Given the description of an element on the screen output the (x, y) to click on. 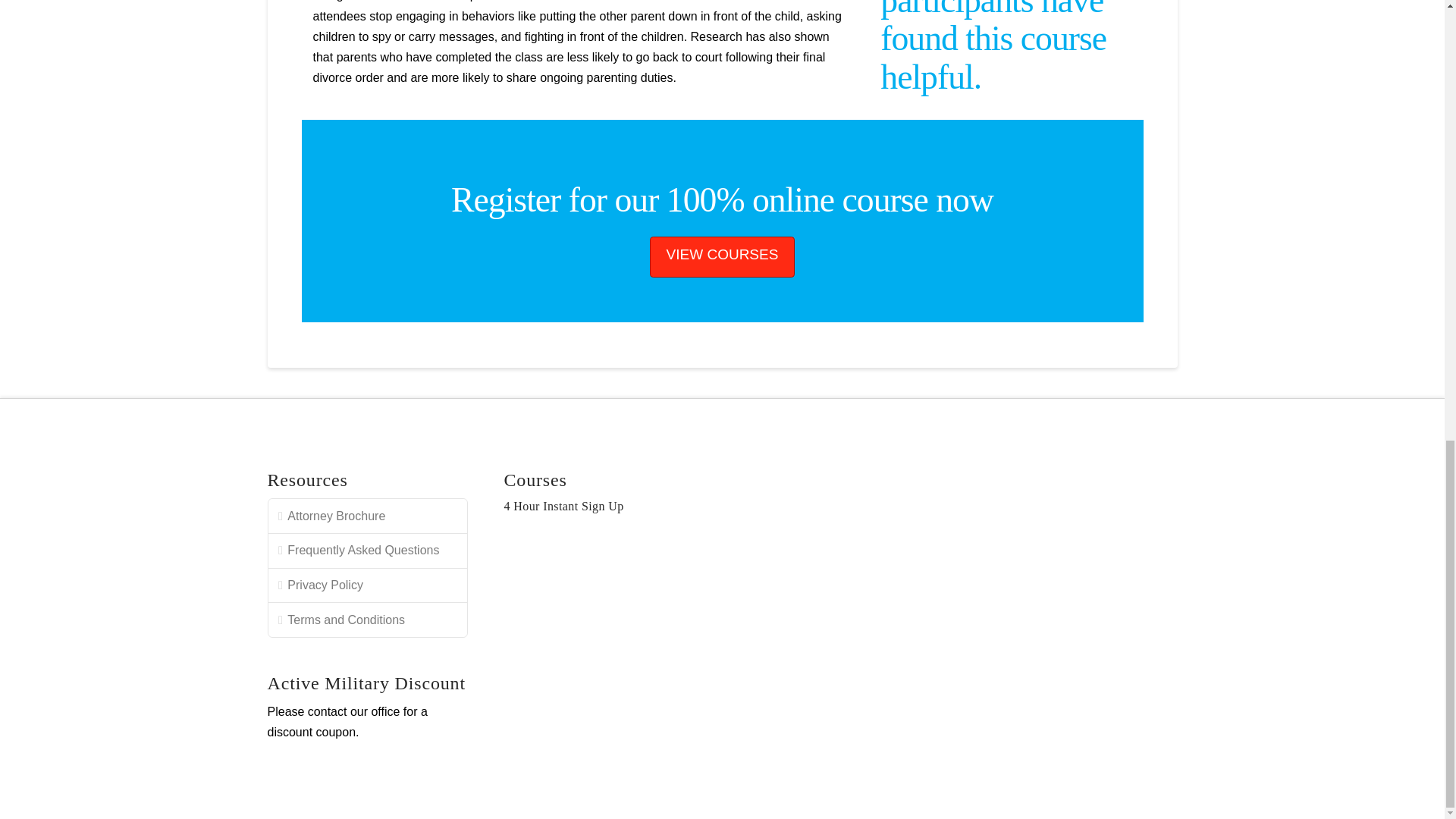
Frequently Asked Questions (367, 550)
Attorney Brochure (367, 515)
VIEW COURSES (721, 256)
Privacy Policy (367, 585)
Terms and Conditions (367, 620)
